Given the description of an element on the screen output the (x, y) to click on. 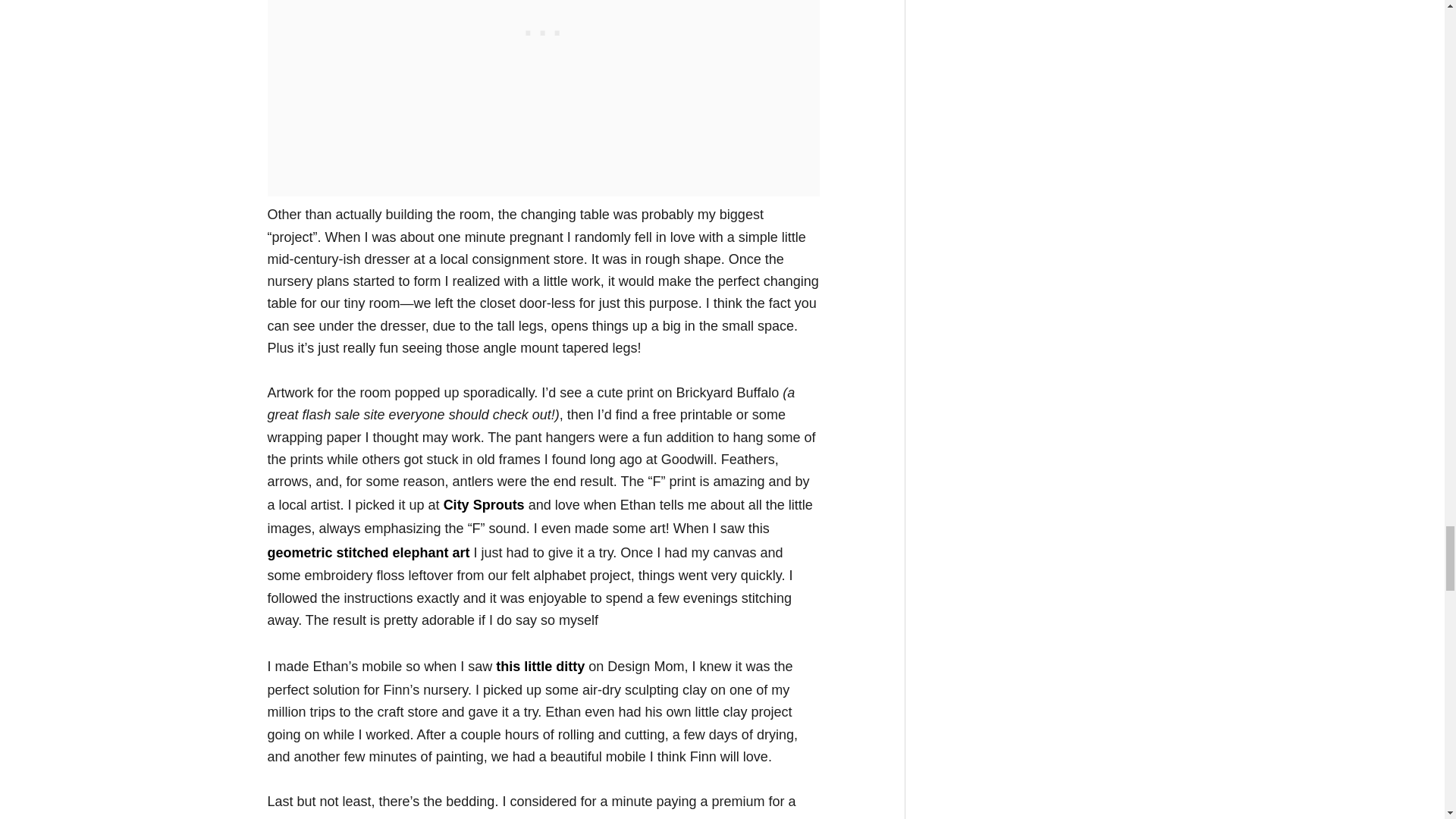
Design mom Clay Mobile (540, 666)
Love Grows Wild Geometric Stitched Animal Art (367, 552)
City Sprouts (484, 504)
